Given the description of an element on the screen output the (x, y) to click on. 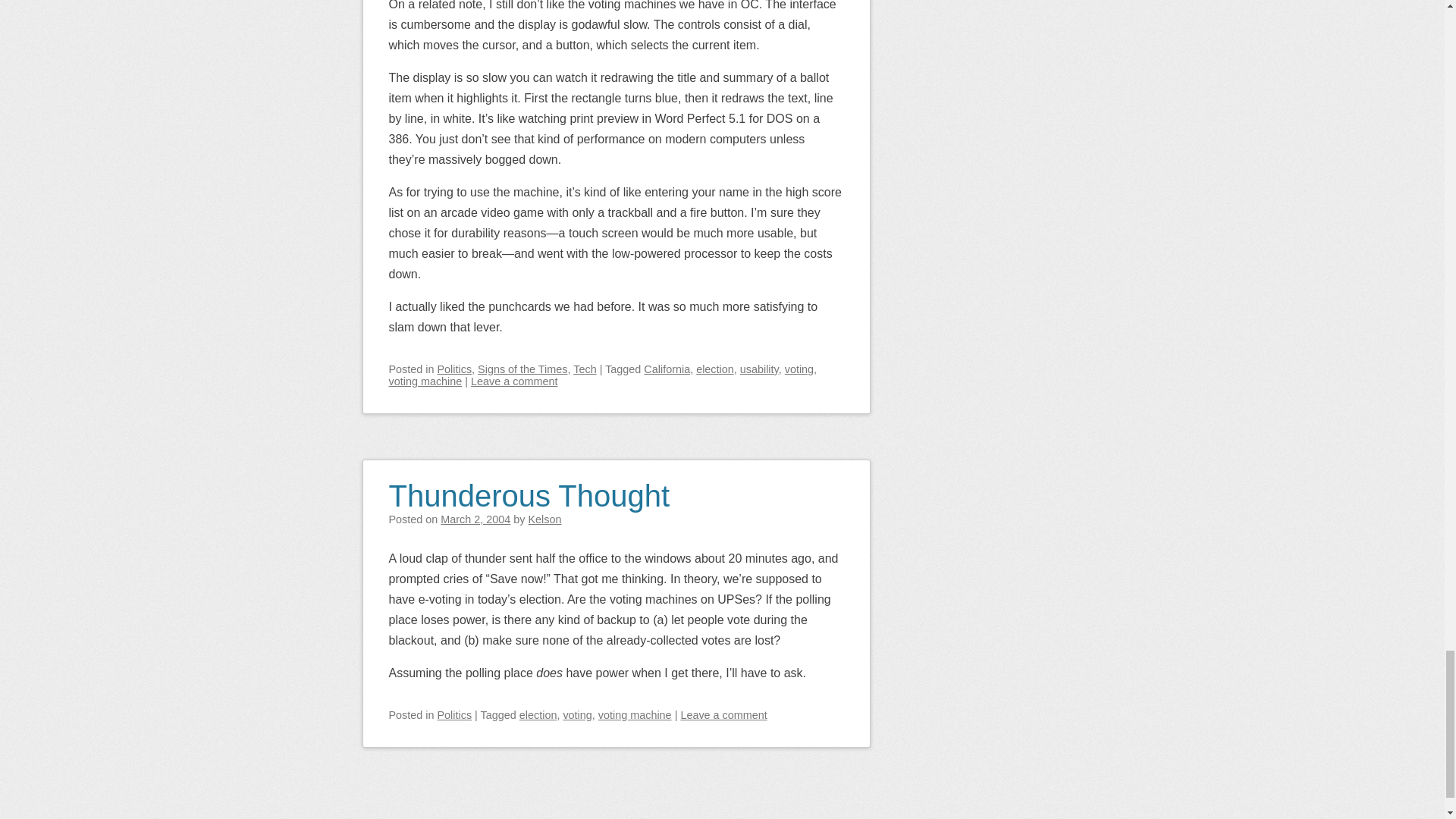
View all posts by Kelson (545, 519)
4:46 PM (476, 519)
Permalink to Thunderous Thought (528, 486)
